Given the description of an element on the screen output the (x, y) to click on. 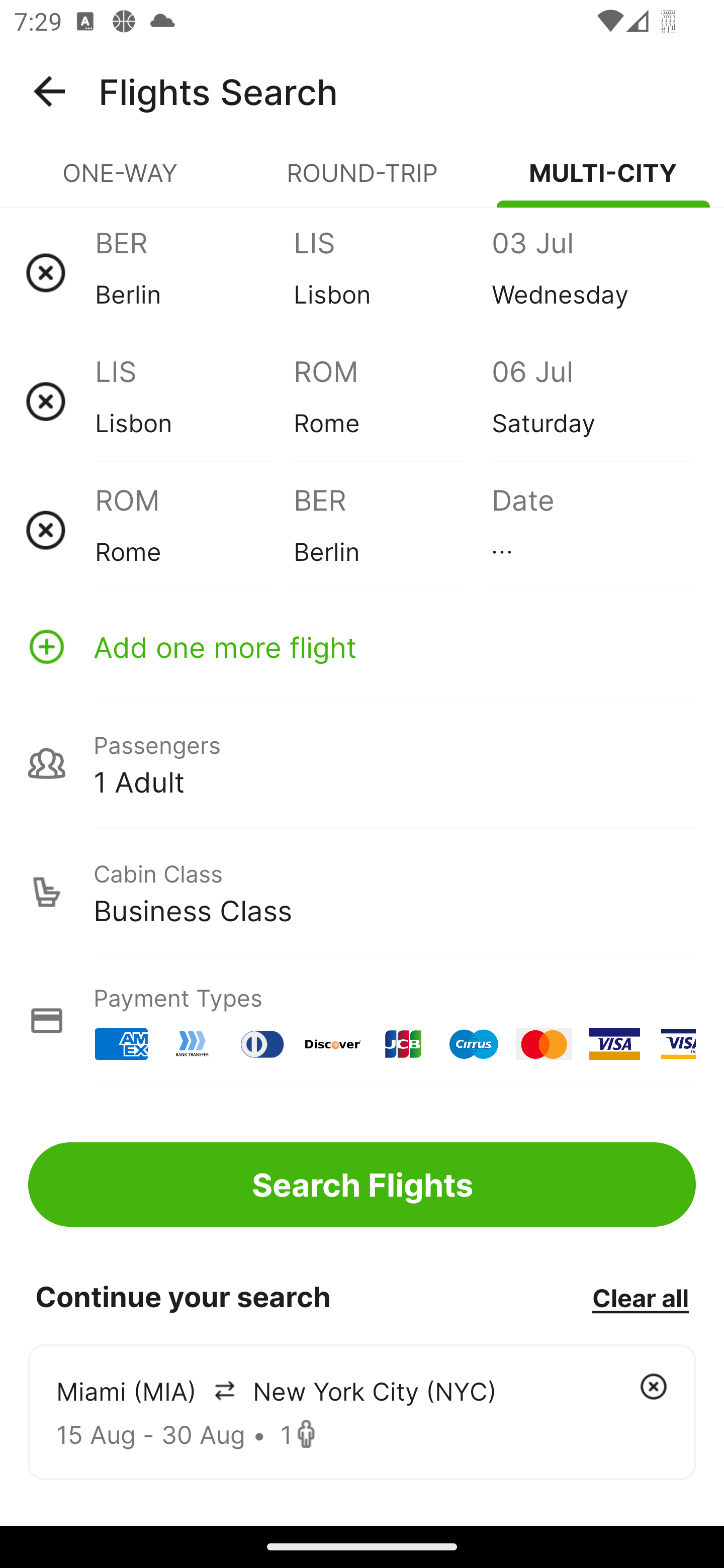
ONE-WAY (120, 180)
ROUND-TRIP (361, 180)
MULTI-CITY (603, 180)
BER Berlin (193, 272)
LIS Lisbon (392, 272)
03 Jul Wednesday (590, 272)
LIS Lisbon (193, 401)
ROM Rome (392, 401)
06 Jul Saturday (590, 401)
ROM Rome (193, 529)
BER Berlin (392, 529)
Date ⋯ (590, 529)
Add one more flight (362, 646)
Passengers 1 Adult (362, 762)
Cabin Class Business Class (362, 891)
Payment Types (362, 1020)
Search Flights (361, 1184)
Clear all (640, 1297)
